Given the description of an element on the screen output the (x, y) to click on. 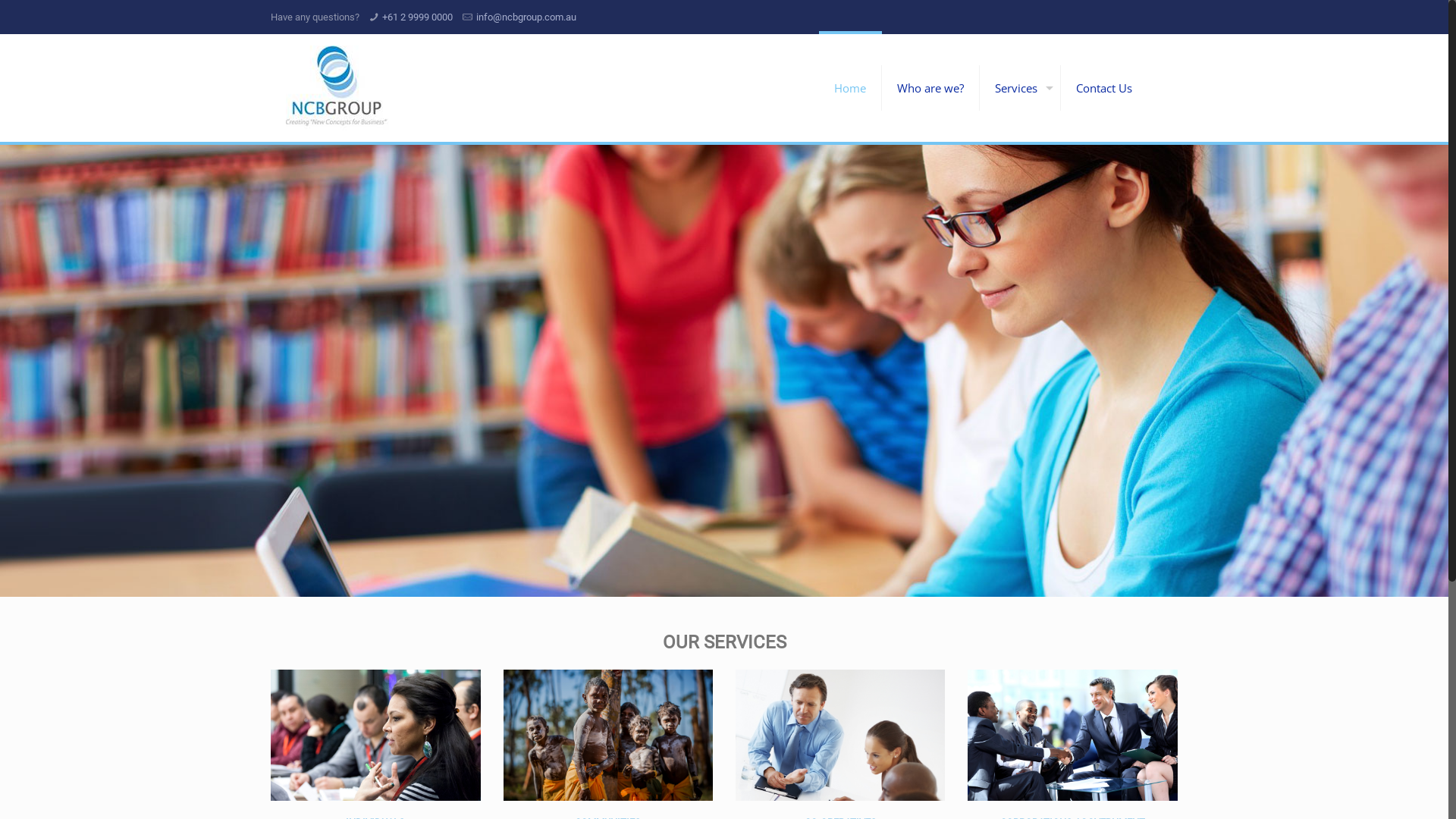
NCB Group Element type: hover (337, 87)
Home Element type: text (850, 87)
Who are we? Element type: text (930, 87)
Services Element type: text (1019, 87)
info@ncbgroup.com.au Element type: text (526, 16)
Contact Us Element type: text (1103, 87)
+61 2 9999 0000 Element type: text (417, 16)
